Given the description of an element on the screen output the (x, y) to click on. 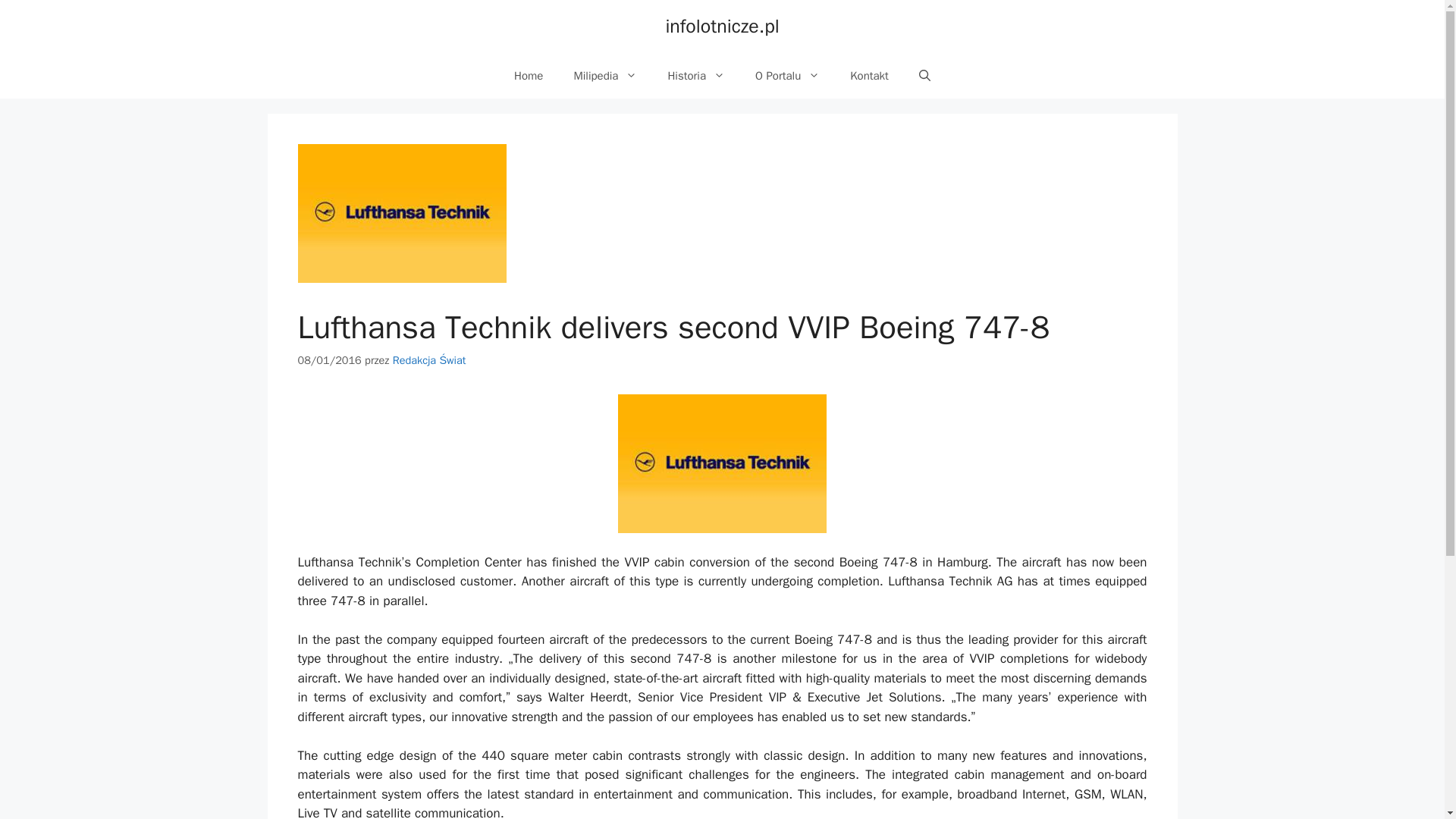
Home (528, 75)
O Portalu (786, 75)
Historia (695, 75)
Kontakt (869, 75)
Milipedia (604, 75)
infolotnicze.pl (721, 25)
